Given the description of an element on the screen output the (x, y) to click on. 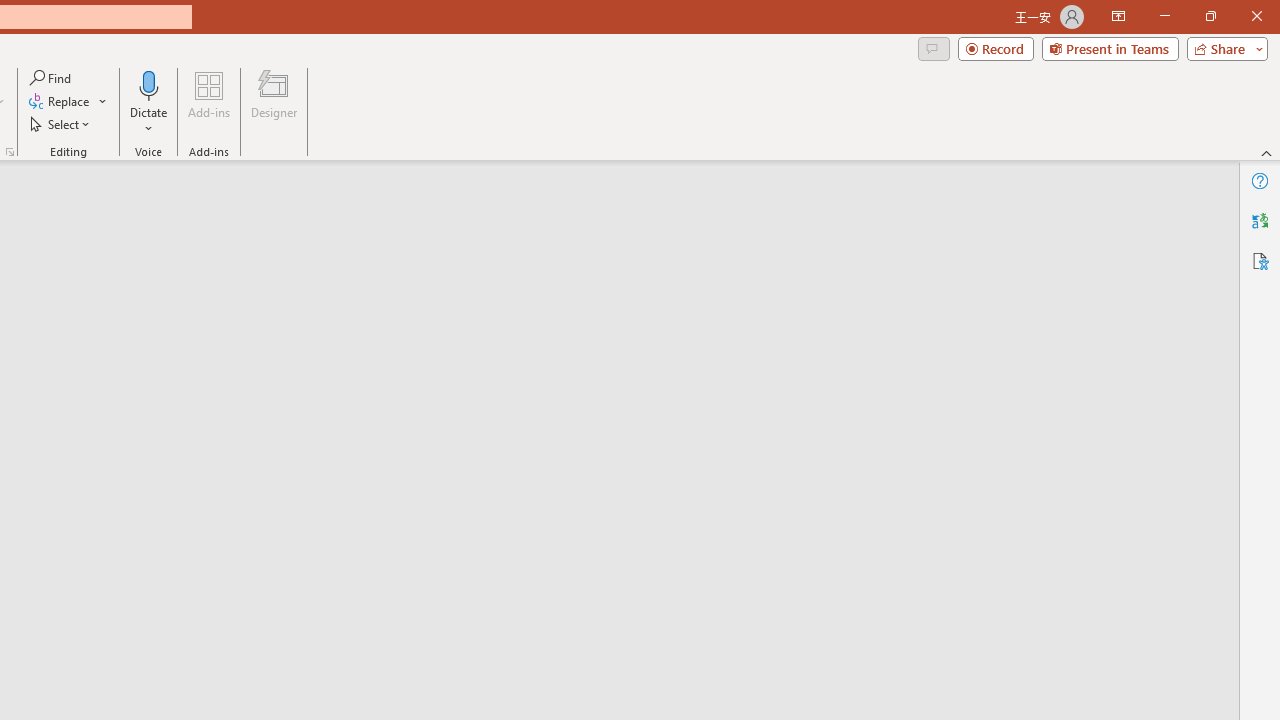
Format Object... (9, 151)
Select (61, 124)
